Given the description of an element on the screen output the (x, y) to click on. 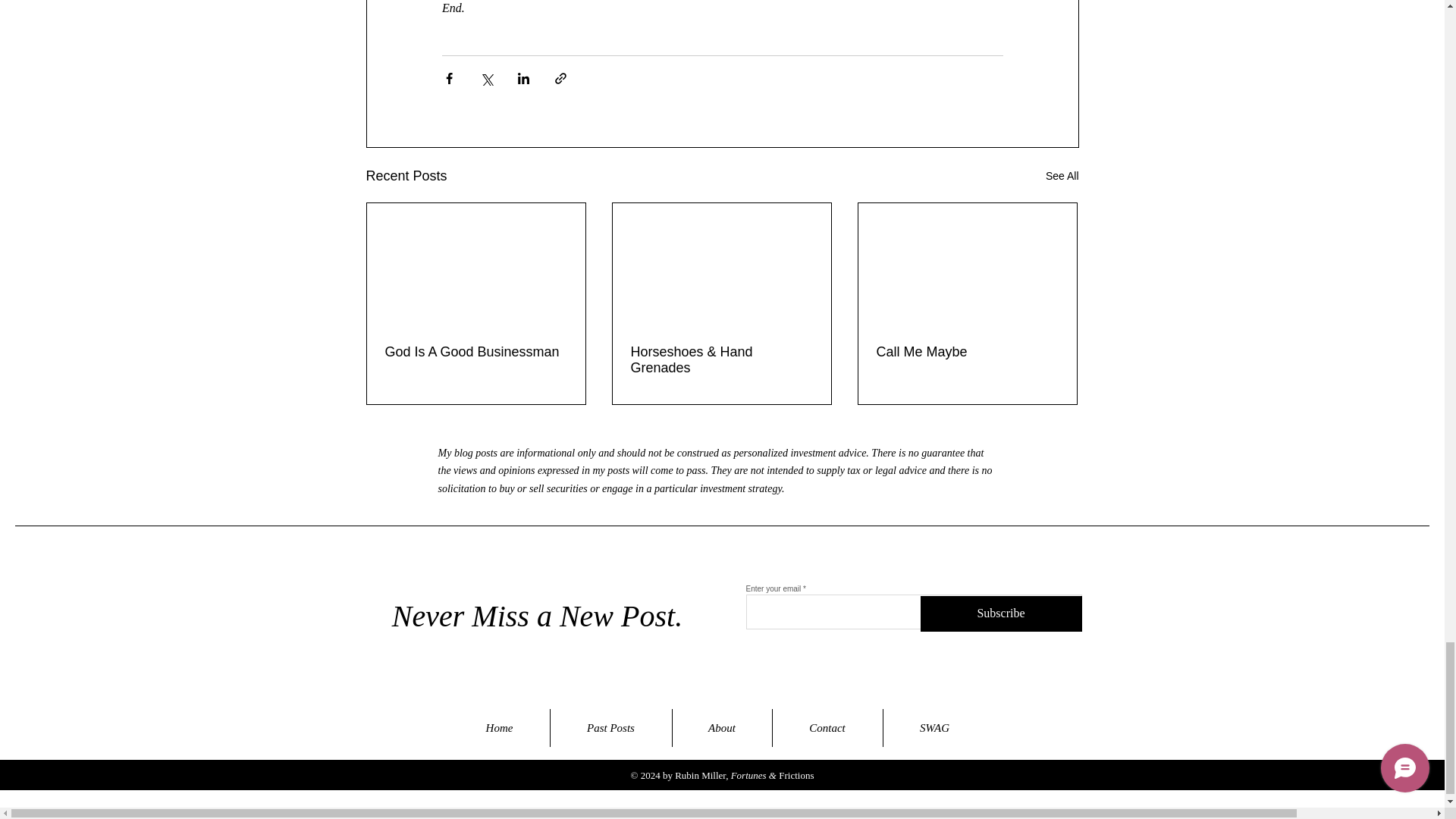
About (721, 727)
Contact (826, 727)
See All (1061, 176)
Home (498, 727)
Call Me Maybe (967, 351)
God Is A Good Businessman (476, 351)
Subscribe (1000, 613)
Past Posts (609, 727)
SWAG (934, 727)
